Given the description of an element on the screen output the (x, y) to click on. 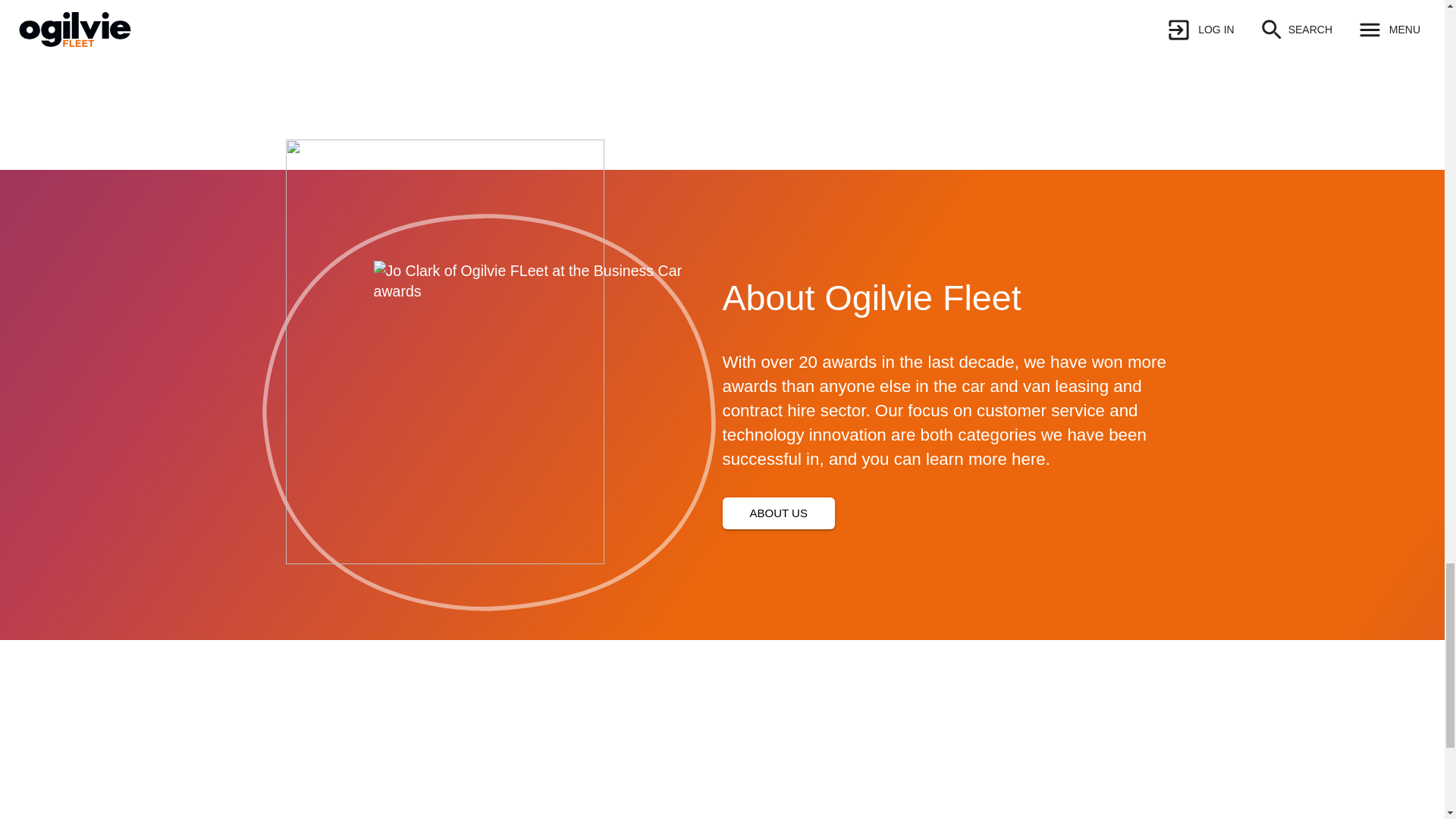
ABOUT US (778, 513)
